Given the description of an element on the screen output the (x, y) to click on. 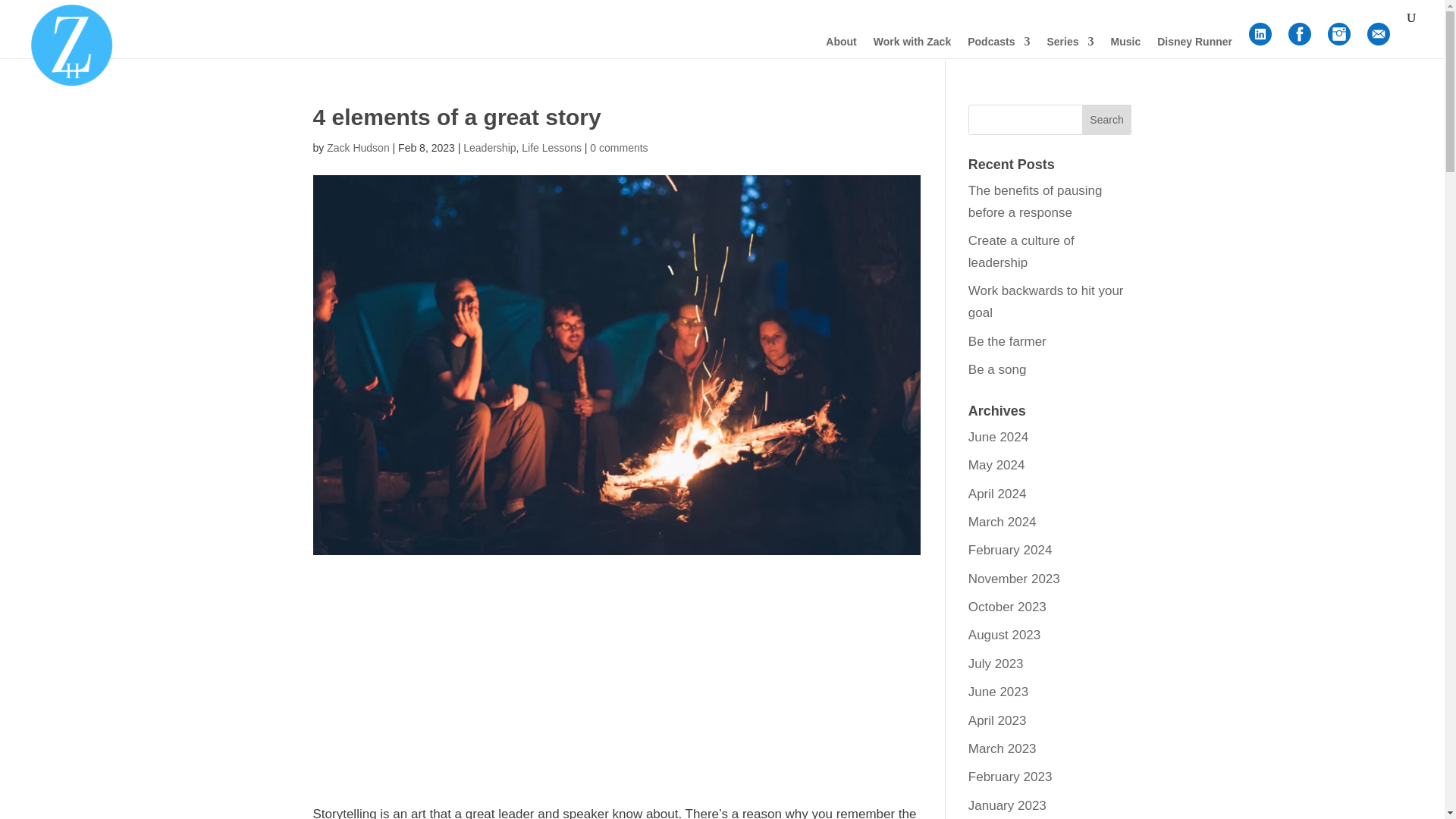
Be the farmer (1007, 341)
Be a song (997, 369)
Work with Zack (911, 47)
Posts by Zack Hudson (357, 147)
Leadership (489, 147)
Disney Runner (1194, 47)
Podcasts (998, 47)
Zack Hudson (357, 147)
Embed Player (616, 671)
Work backwards to hit your goal (1046, 301)
